Given the description of an element on the screen output the (x, y) to click on. 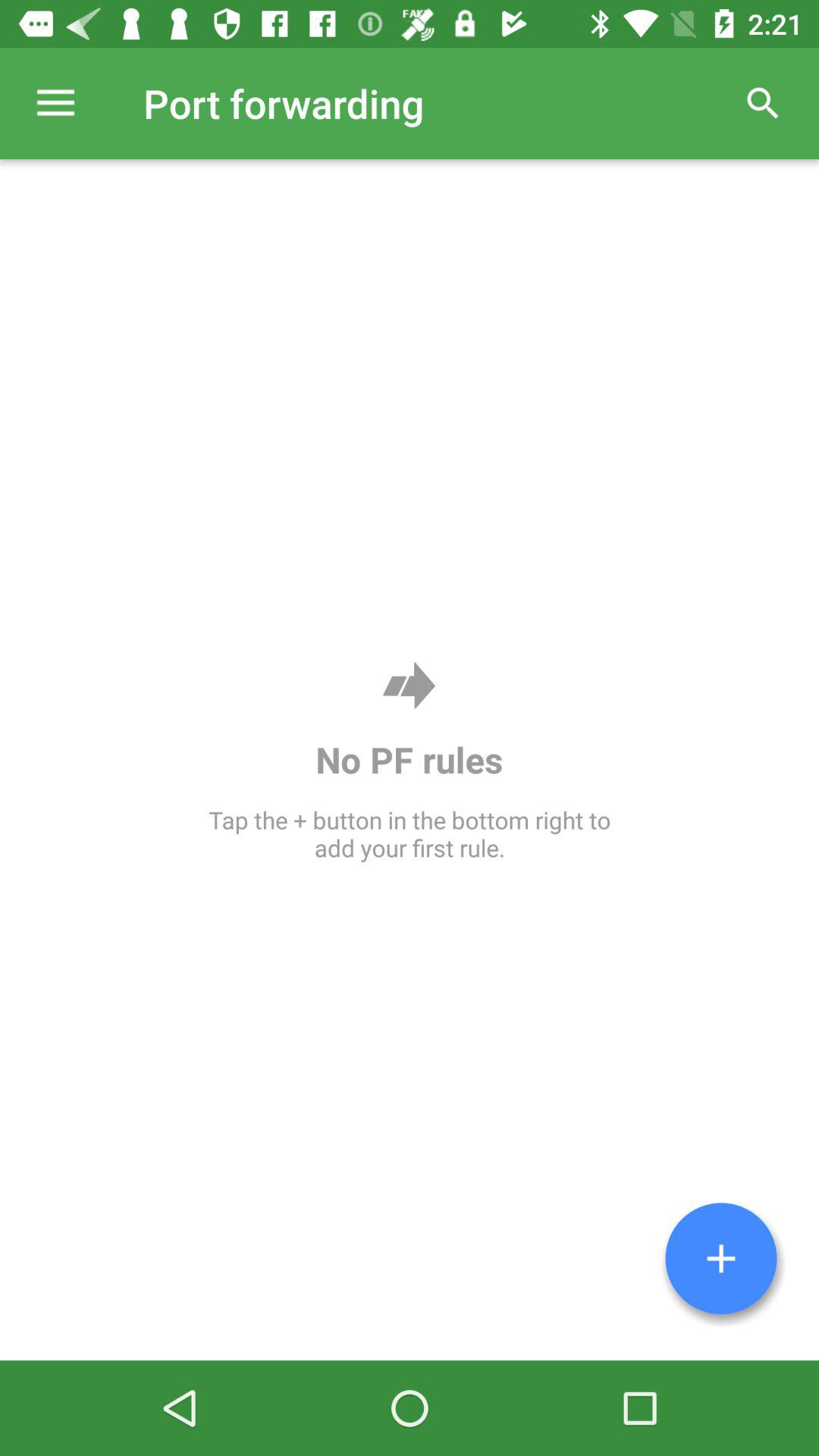
launch the item next to the port forwarding (763, 103)
